Given the description of an element on the screen output the (x, y) to click on. 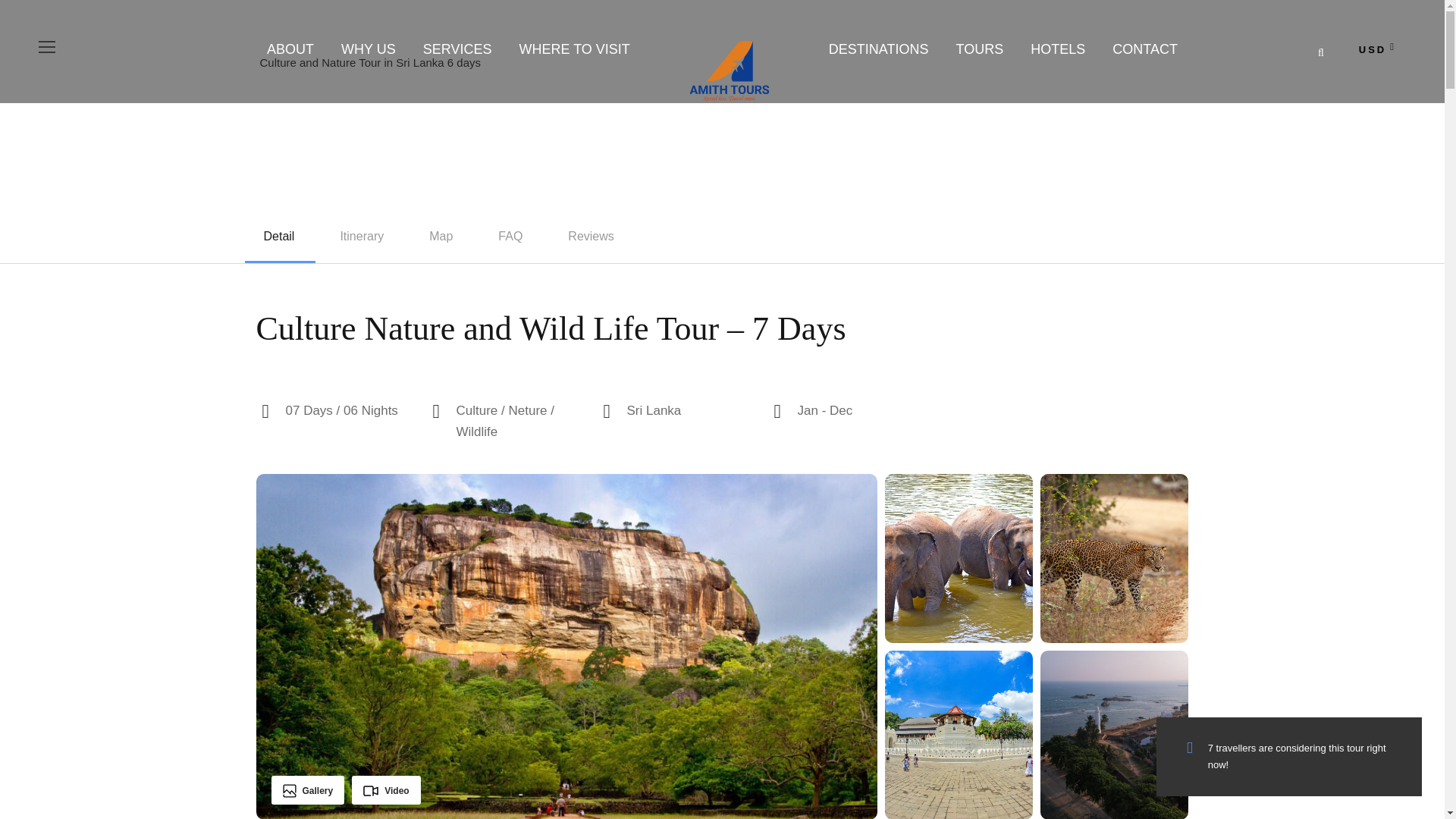
AMith Tours Logo n-01 (729, 70)
